Given the description of an element on the screen output the (x, y) to click on. 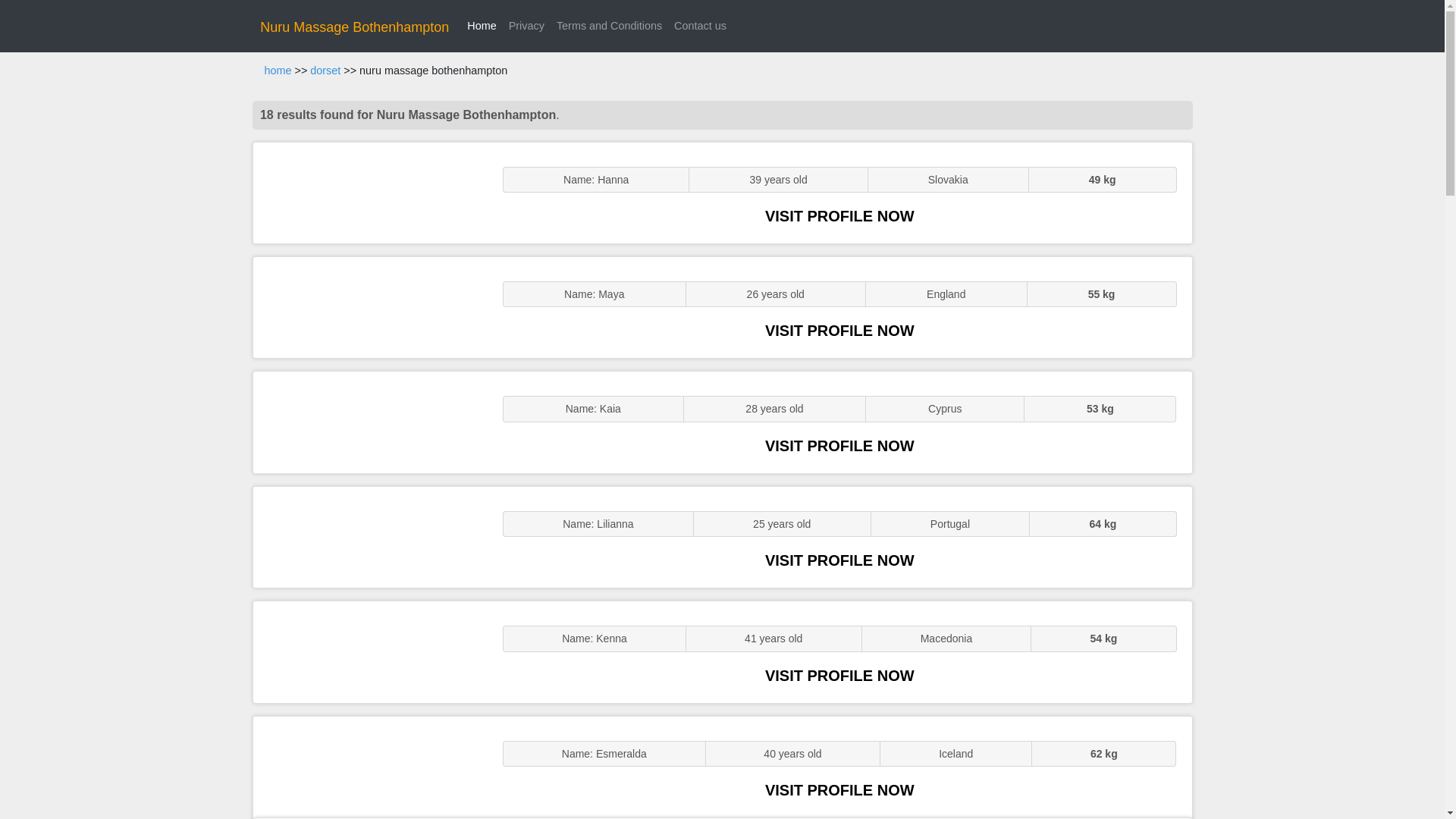
VISIT PROFILE NOW (839, 445)
Privacy (526, 25)
Terms and Conditions (609, 25)
Massage (370, 766)
Nuru Massage Bothenhampton (354, 27)
Contact us (700, 25)
VISIT PROFILE NOW (839, 216)
 ENGLISH STUNNER (370, 192)
VISIT PROFILE NOW (839, 560)
VISIT PROFILE NOW (839, 330)
